Given the description of an element on the screen output the (x, y) to click on. 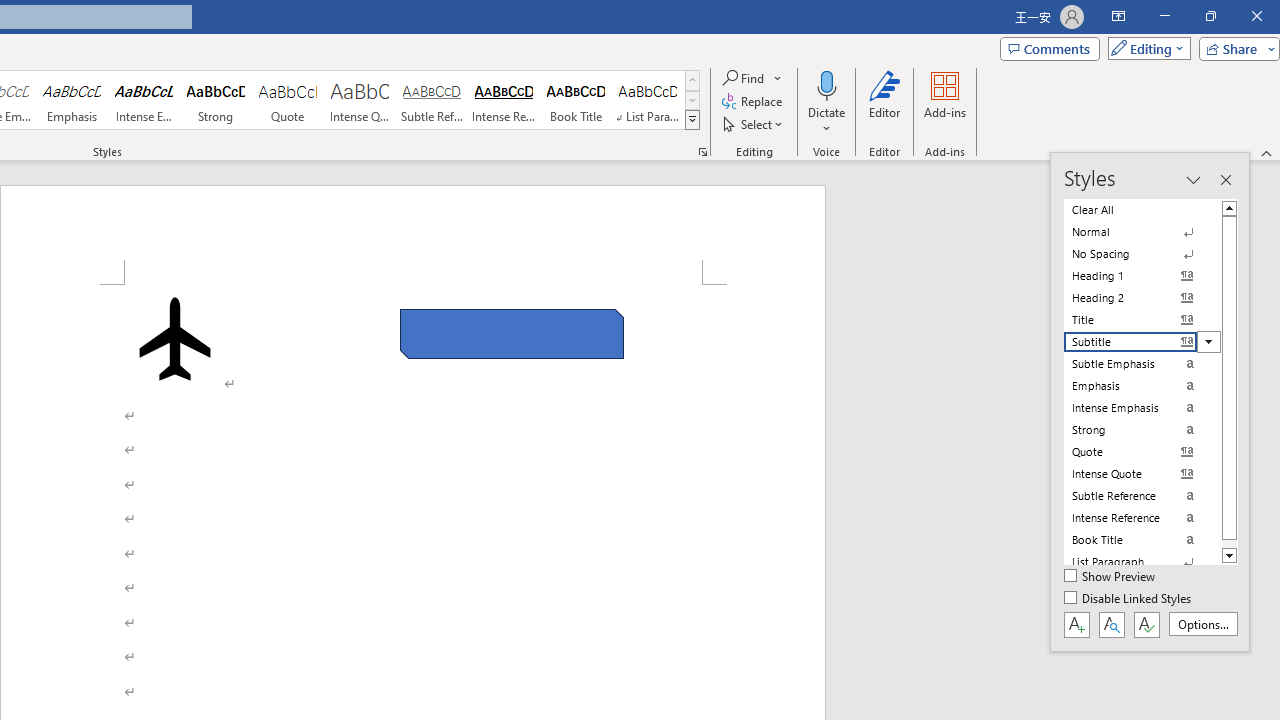
Styles... (702, 151)
Ribbon Display Options (1118, 16)
Intense Quote (359, 100)
Subtle Emphasis (1142, 363)
Row up (692, 79)
Disable Linked Styles (1129, 599)
Emphasis (71, 100)
Intense Reference (504, 100)
Subtle Reference (431, 100)
Clear All (1142, 209)
Dictate (826, 84)
Task Pane Options (1193, 179)
Strong (216, 100)
